Given the description of an element on the screen output the (x, y) to click on. 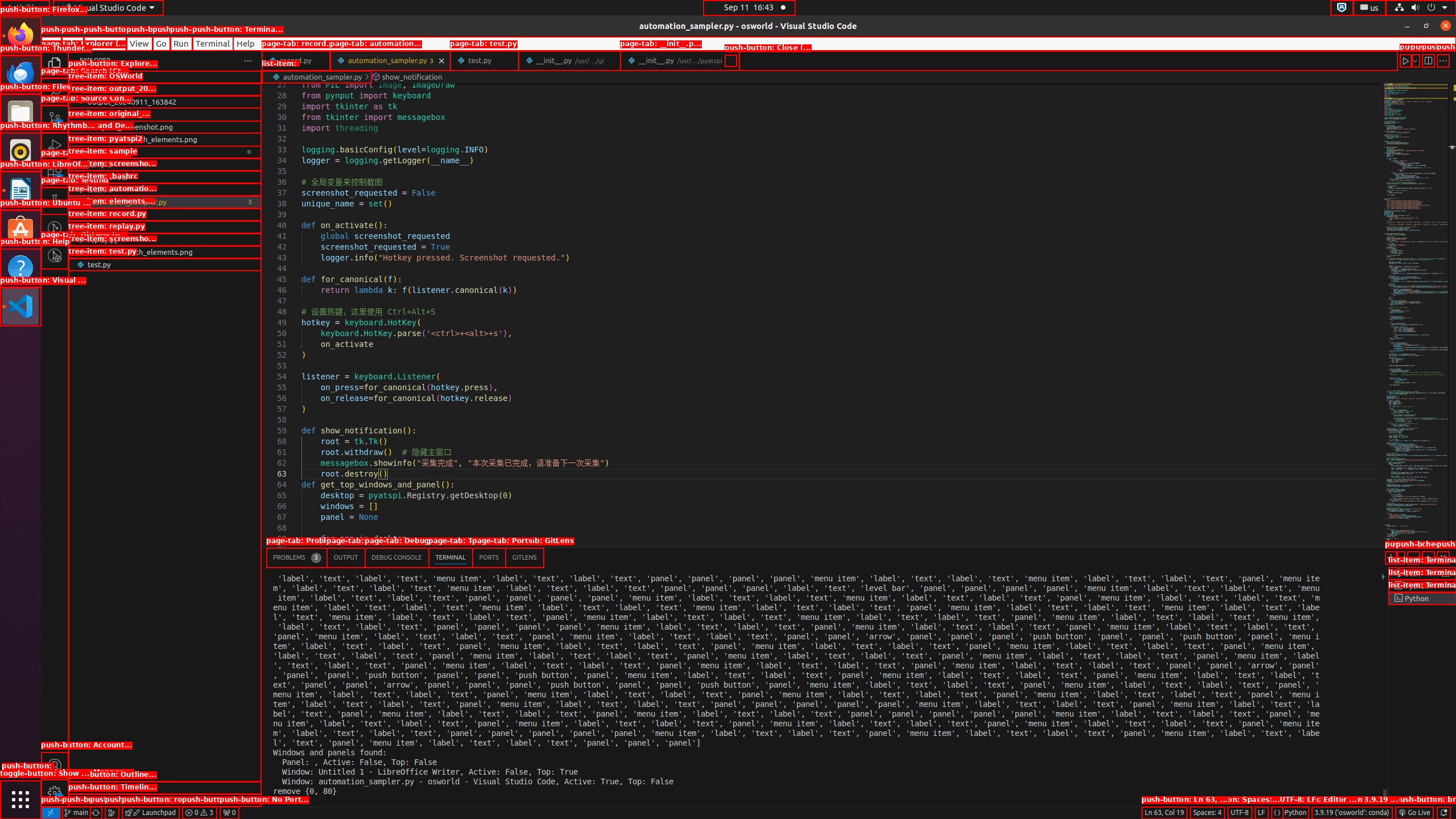
OSWorld (Git) - Synchronize Changes Element type: push-button (95, 812)
automation_sampler.py Element type: page-tab (389, 60)
test.py Element type: tree-item (164, 264)
Hide Panel Element type: push-button (1442, 557)
